Given the description of an element on the screen output the (x, y) to click on. 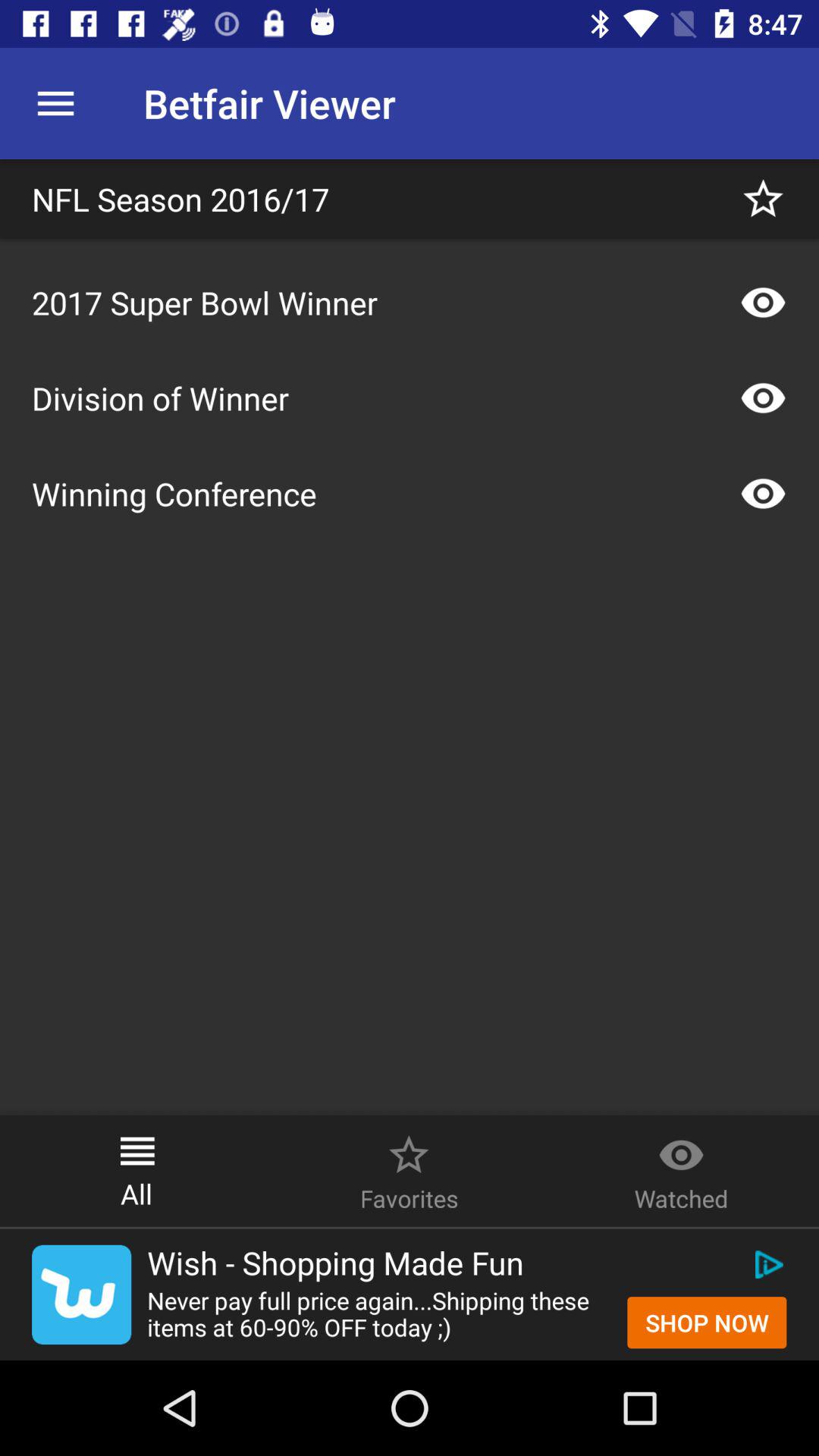
tap icon below wish shopping made icon (706, 1322)
